Given the description of an element on the screen output the (x, y) to click on. 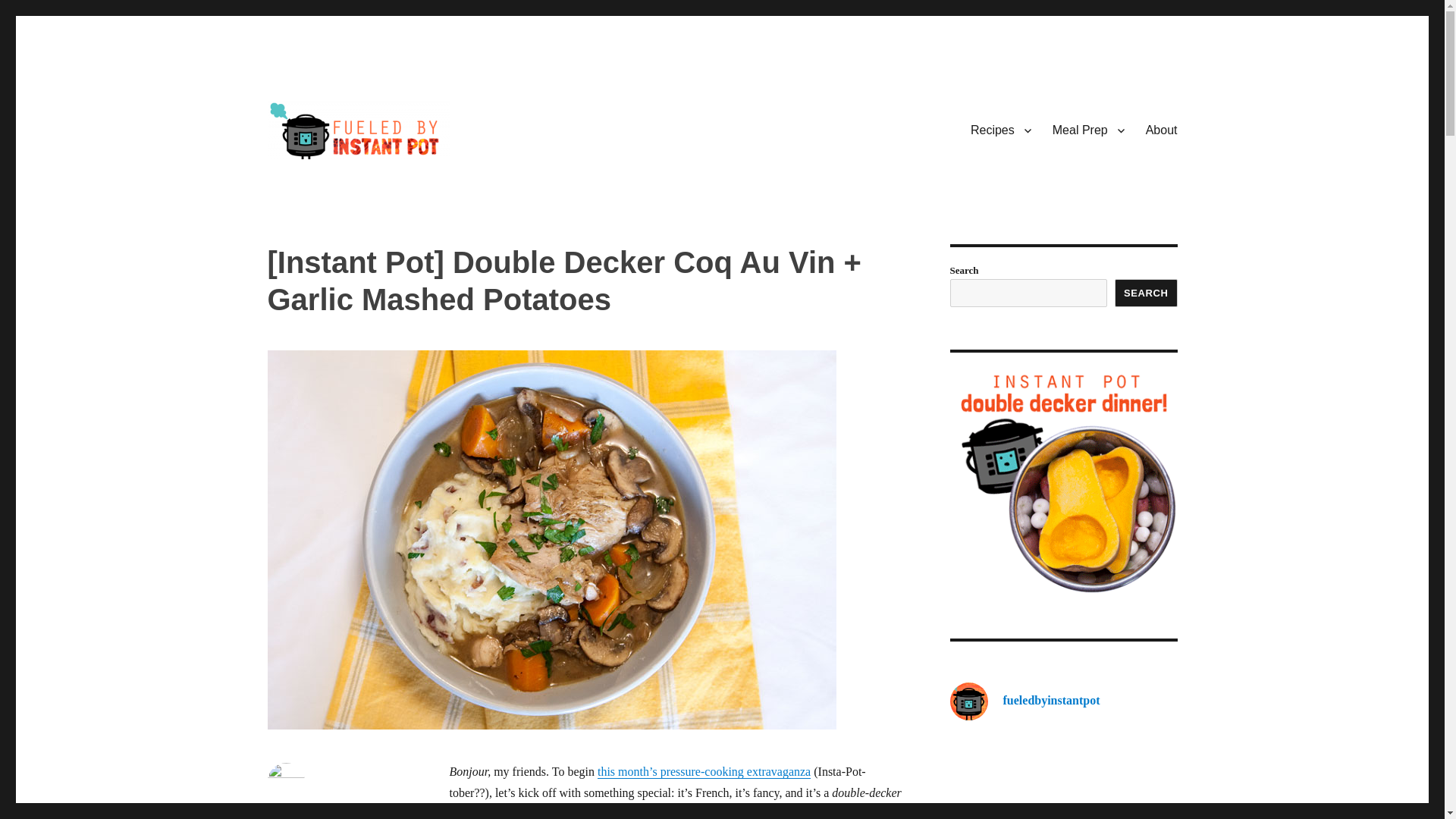
Mary Clare Fraker, MS RD (324, 812)
Fueled By Instant Pot (374, 182)
Recipes (1000, 129)
About (1161, 129)
Meal Prep (1088, 129)
